Given the description of an element on the screen output the (x, y) to click on. 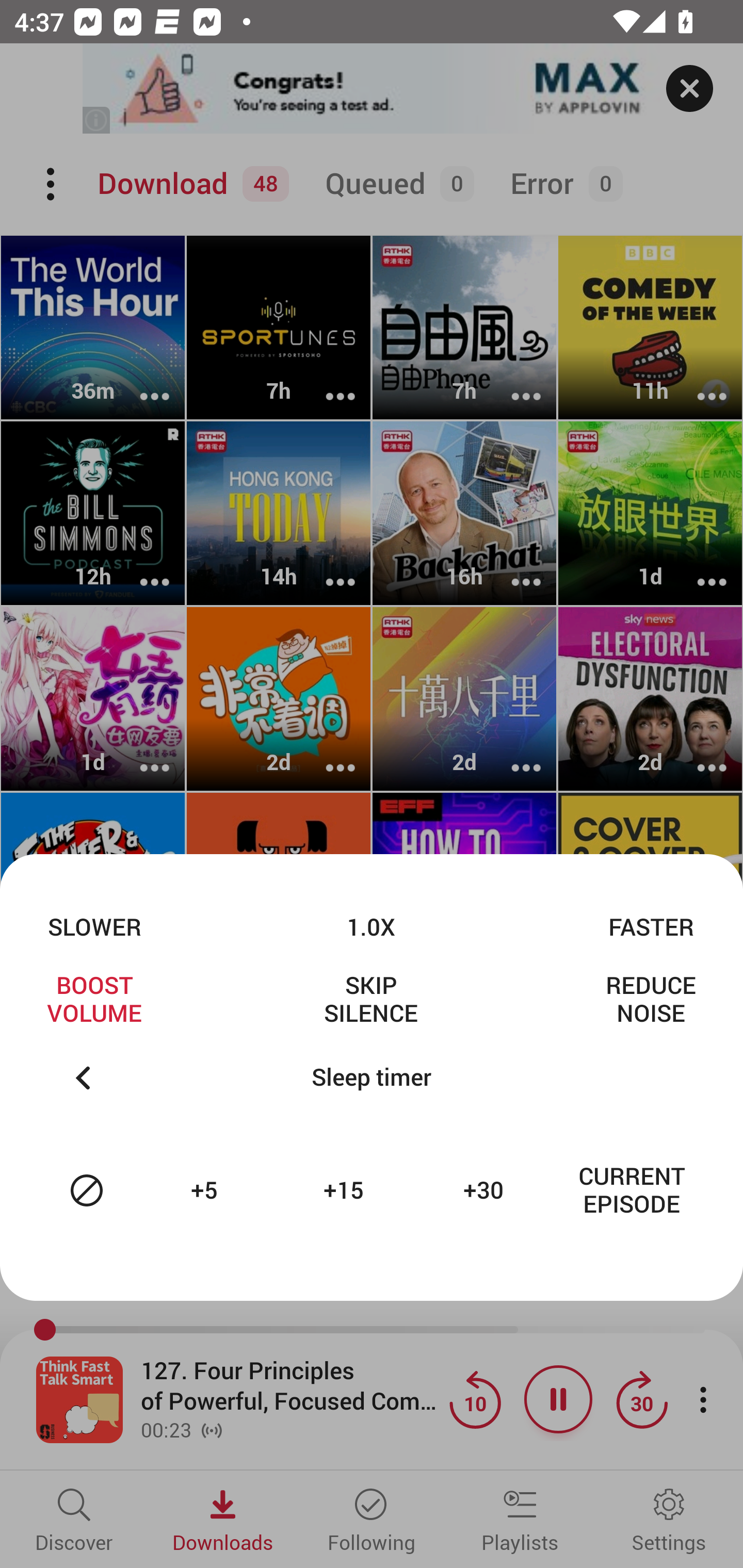
SLOWER (94, 926)
1.0X (370, 926)
FASTER (650, 926)
BOOST
VOLUME (94, 998)
SKIP
SILENCE (370, 998)
REDUCE
NOISE (650, 998)
Reset (86, 1190)
+5  (206, 1190)
+15  (346, 1190)
+30  (486, 1190)
CURRENT
EPISODE (631, 1190)
